Given the description of an element on the screen output the (x, y) to click on. 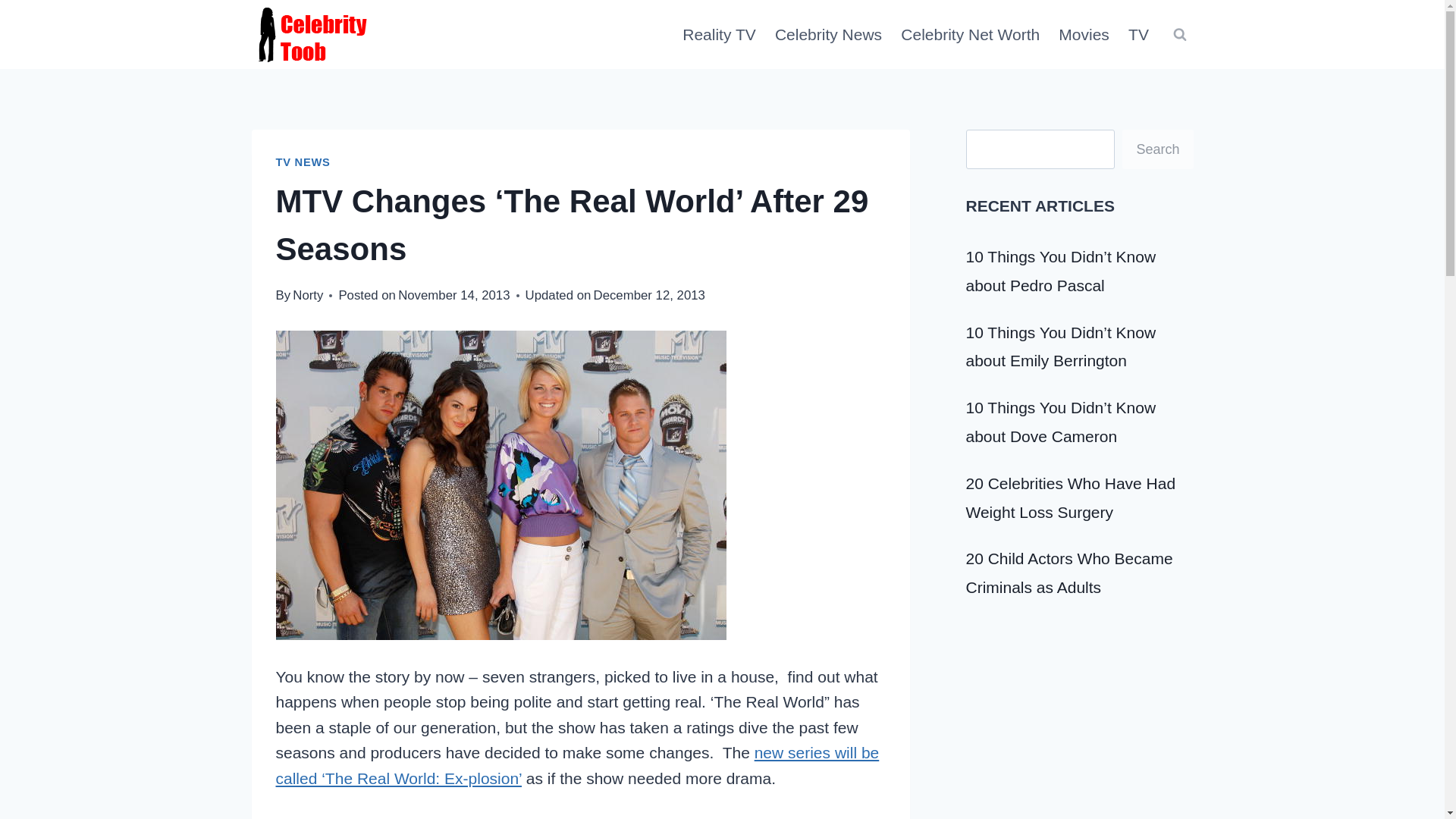
Movies (1084, 34)
Celebrity Net Worth (970, 34)
Celebrity News (828, 34)
TV NEWS (303, 162)
Reality TV (718, 34)
Norty (307, 295)
